Given the description of an element on the screen output the (x, y) to click on. 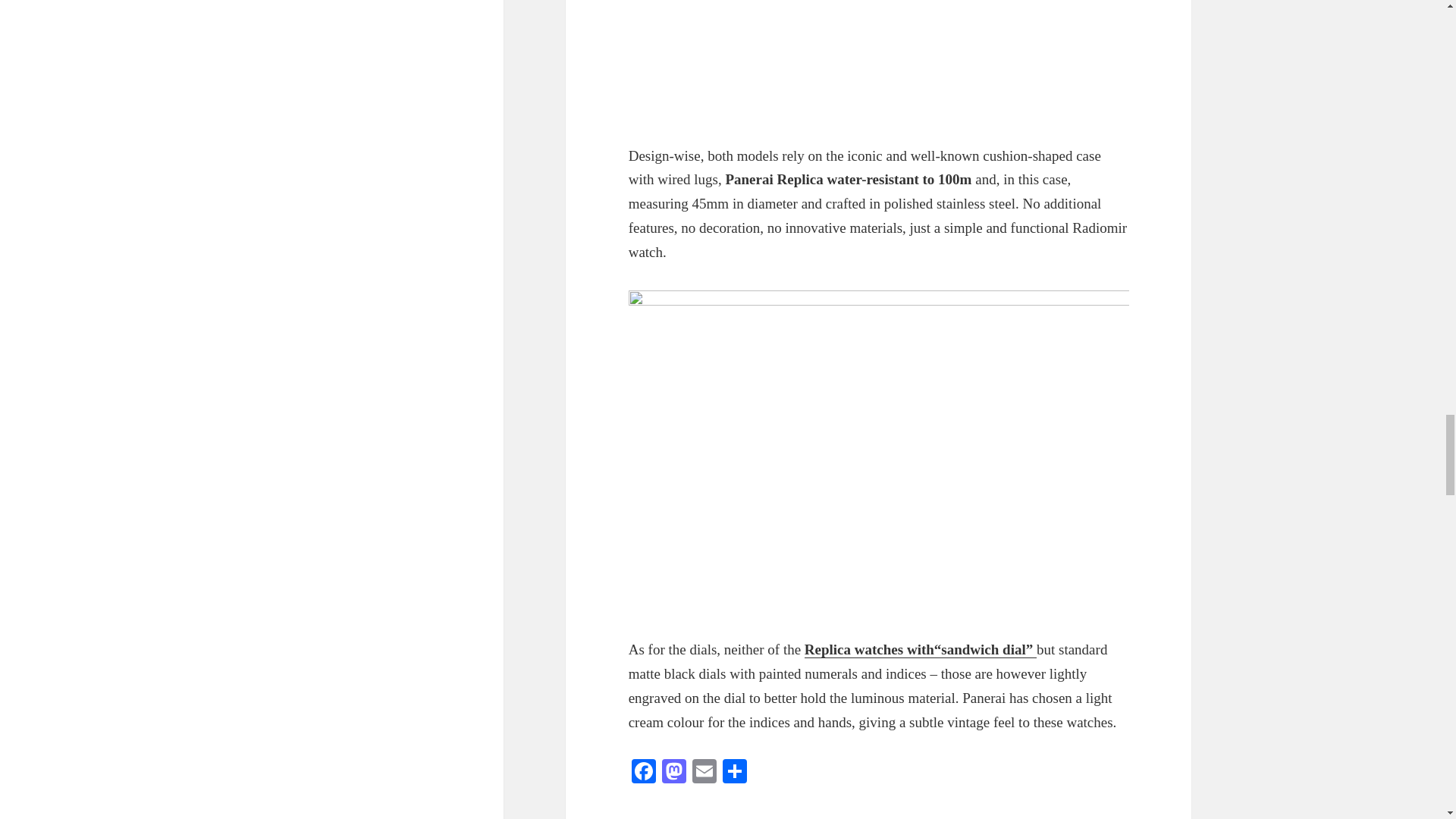
Email (703, 773)
Mastodon (673, 773)
Facebook (643, 773)
